Given the description of an element on the screen output the (x, y) to click on. 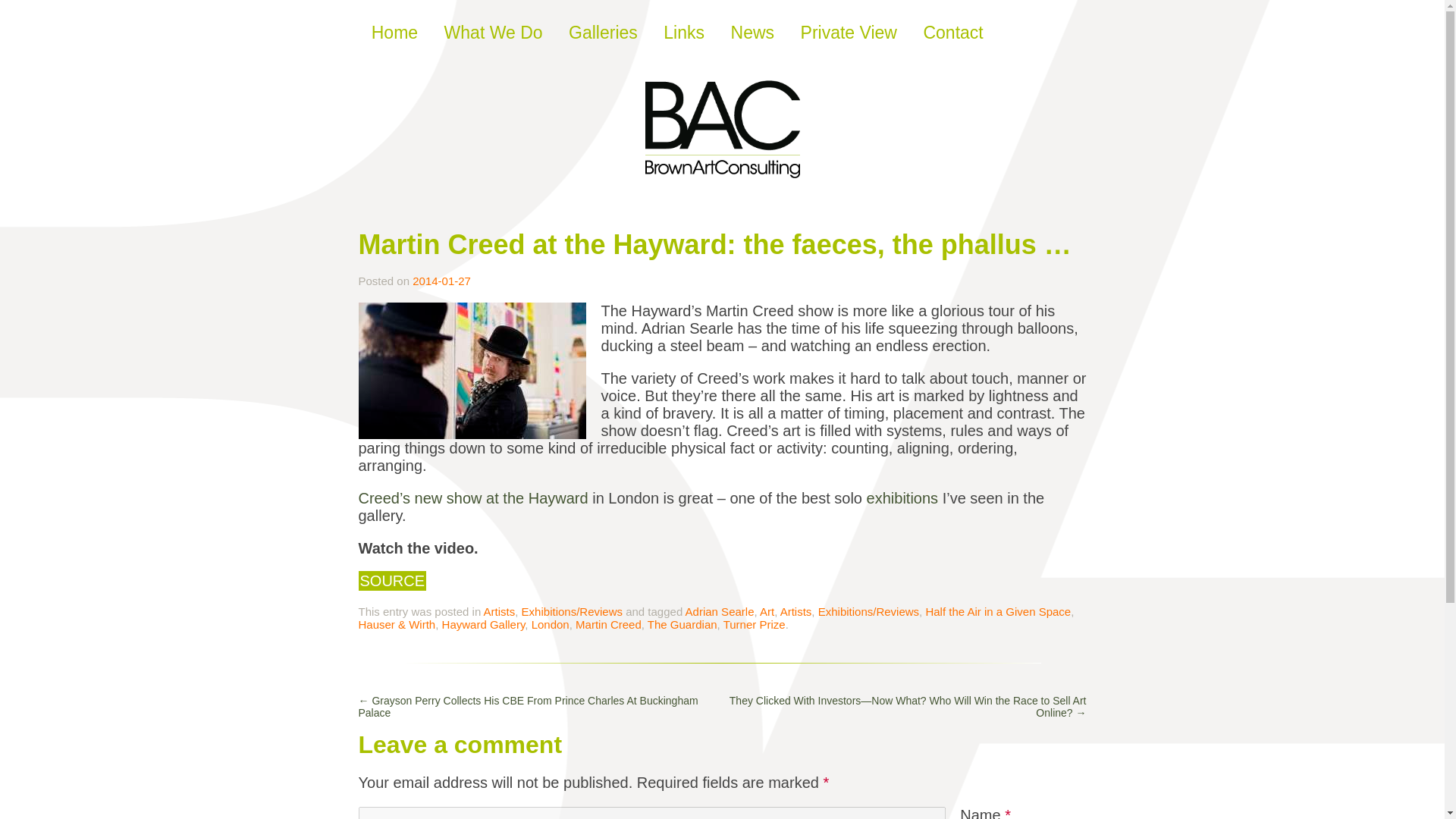
Martin Creed (608, 624)
Turner Prize (754, 624)
Skip to content (428, 32)
Private View (848, 32)
News (752, 32)
What We Do (492, 32)
London (550, 624)
SOURCE (392, 580)
Contact (952, 32)
Skip to content (428, 32)
Hayward Gallery (483, 624)
More from the Guardian on Exhibitions (902, 497)
Half the Air in a Given Space (997, 611)
Galleries (603, 32)
Adrian Searle (719, 611)
